Given the description of an element on the screen output the (x, y) to click on. 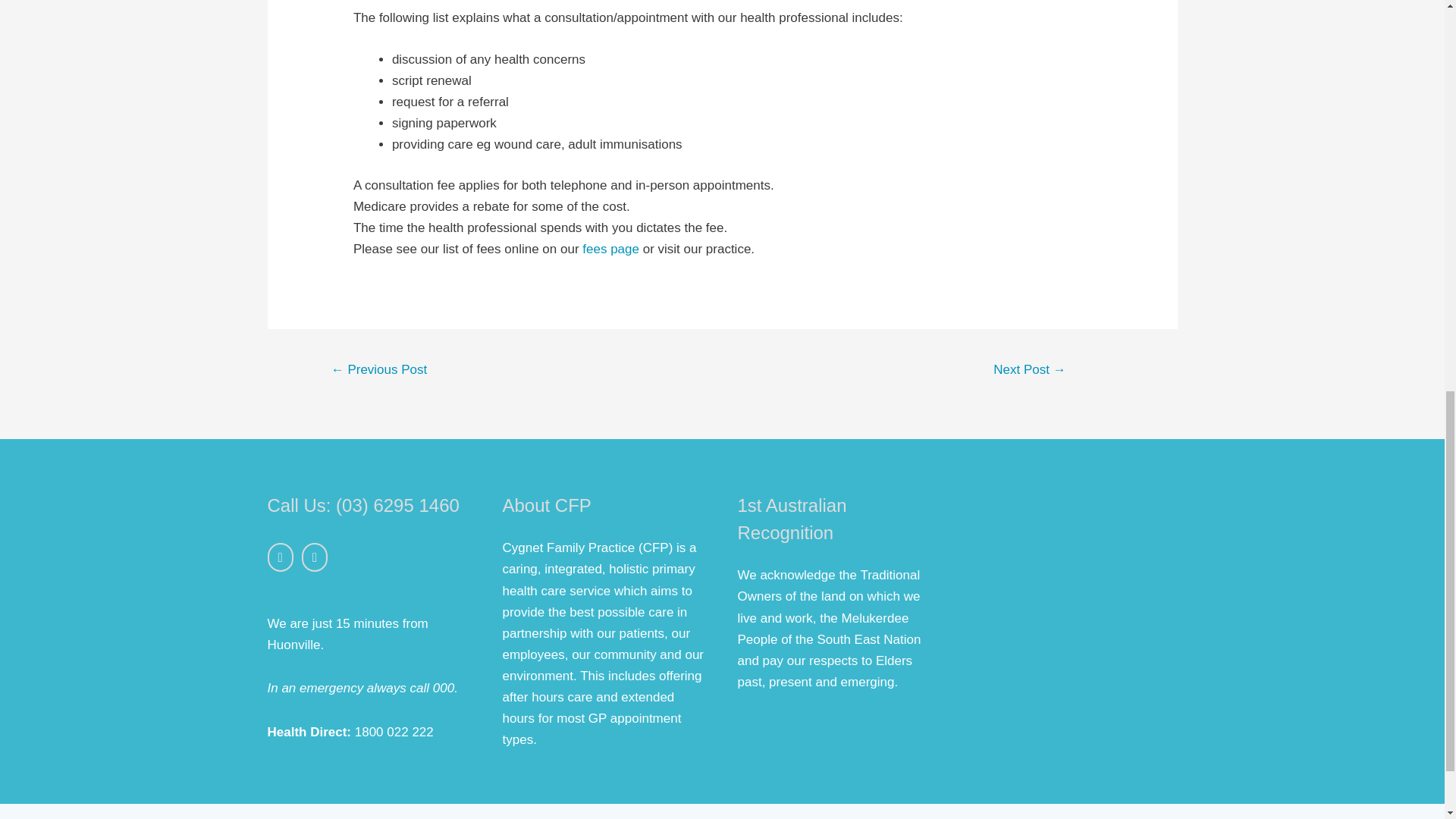
Urgent and After-Hours Service (378, 371)
Cygnet Family Practice on Facebook (279, 556)
Cygnet Family Practice on Google (314, 556)
fees page (610, 248)
